Given the description of an element on the screen output the (x, y) to click on. 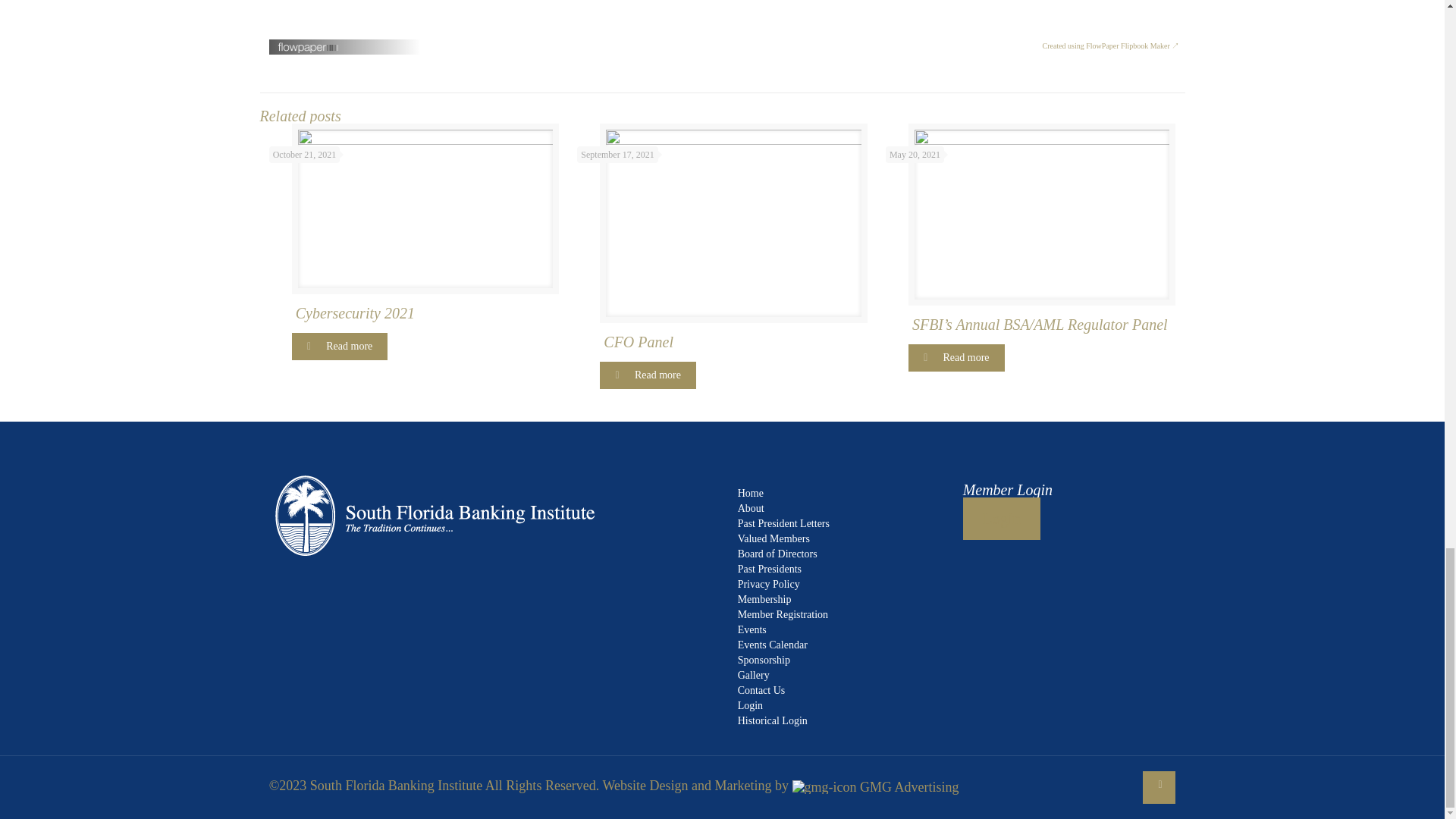
FlowPaper logotype (309, 50)
Cybersecurity 2021 (427, 313)
FlowPaper flipbook pdf viewer (722, 19)
